Given the description of an element on the screen output the (x, y) to click on. 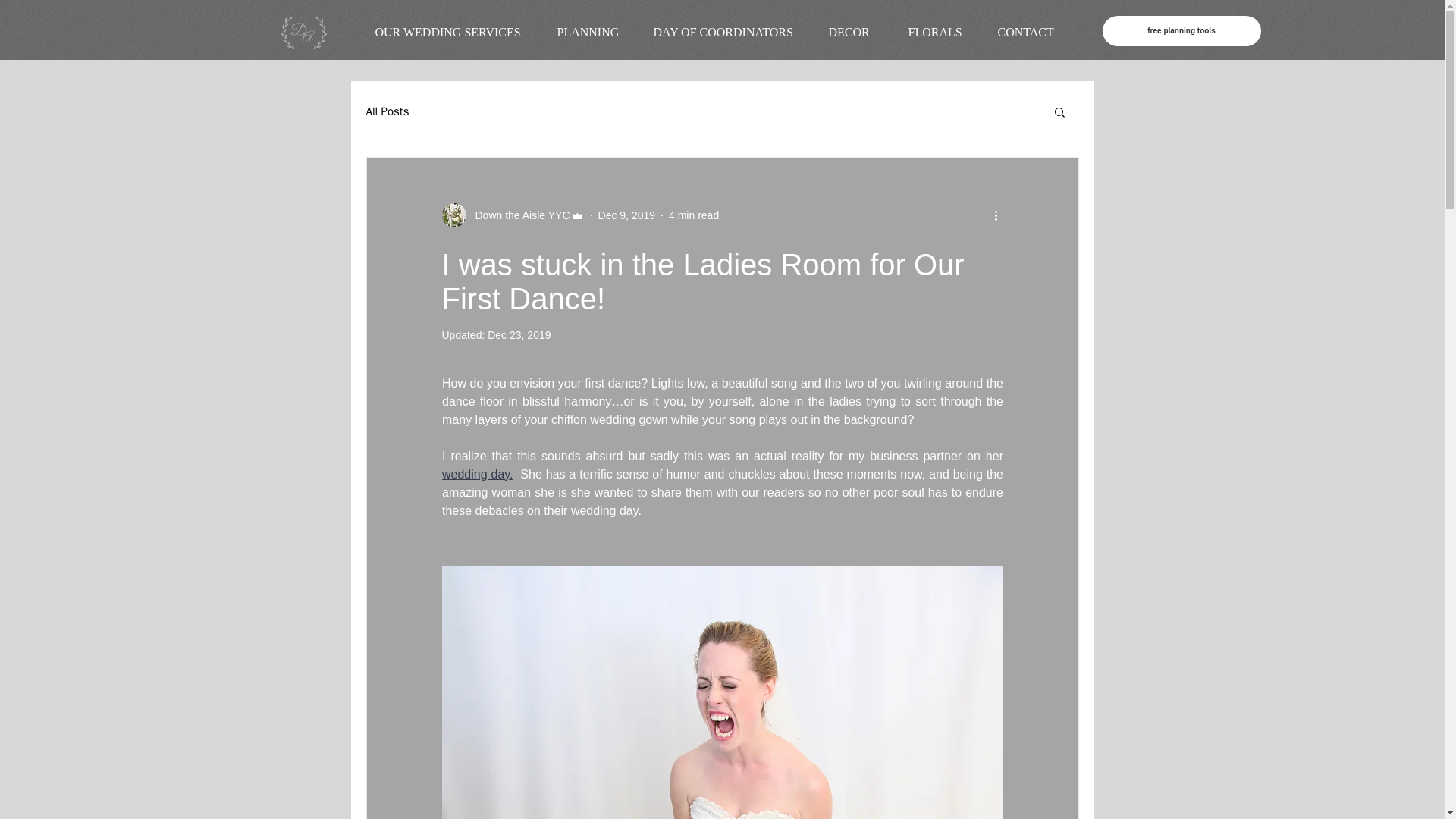
Dec 23, 2019 (518, 335)
FLORALS (940, 32)
All Posts (387, 111)
Dec 9, 2019 (627, 215)
4 min read (693, 215)
PLANNING (594, 32)
Down the Aisle YYC (517, 215)
OUR WEDDING SERVICES (455, 32)
CONTACT (1032, 32)
DECOR (856, 32)
